Given the description of an element on the screen output the (x, y) to click on. 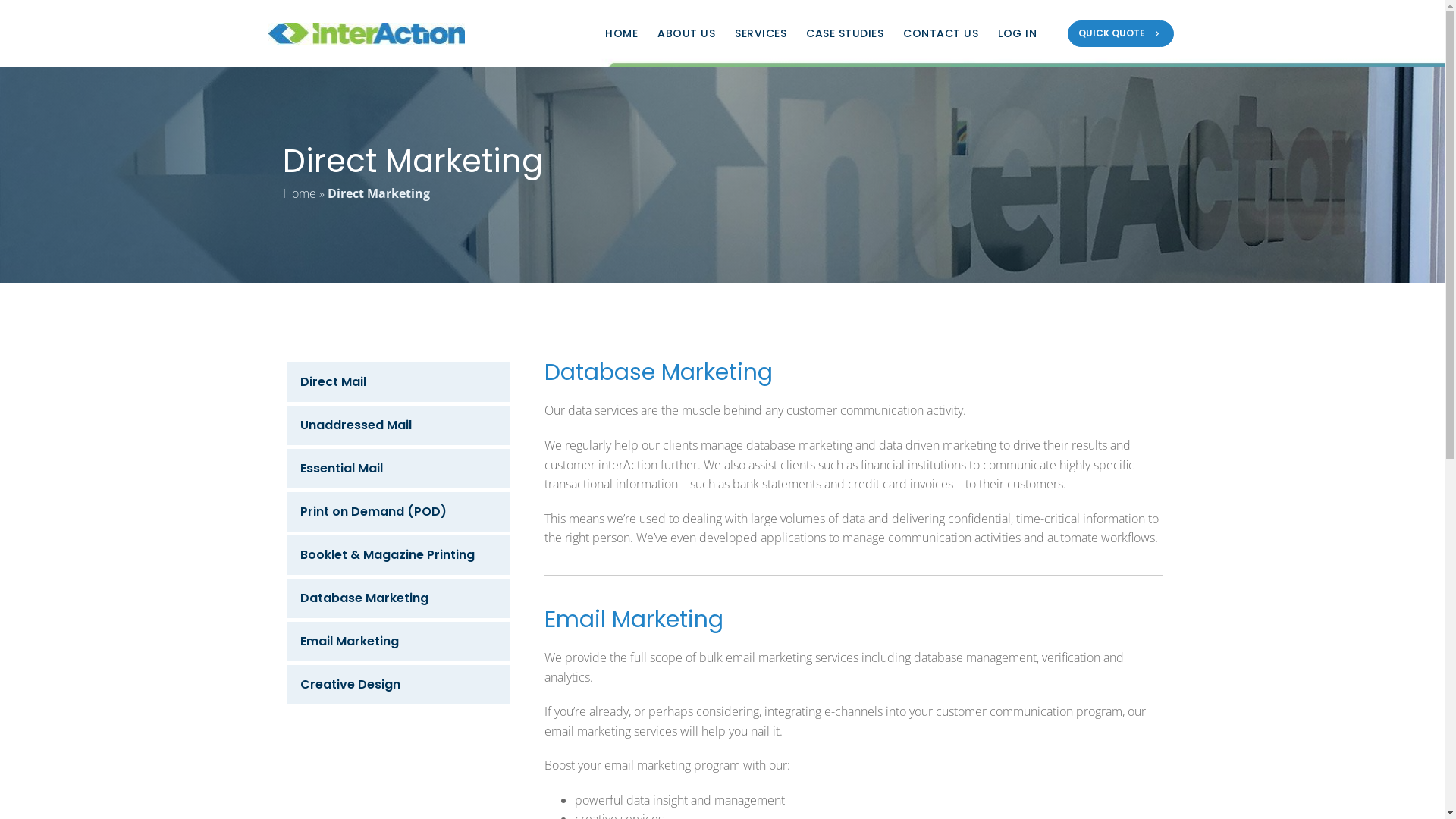
Creative Design Element type: text (398, 684)
Database Marketing Element type: text (398, 598)
Essential Mail Element type: text (398, 468)
LOG IN Element type: text (1007, 33)
Direct Mail Element type: text (398, 381)
CASE STUDIES Element type: text (835, 33)
ABOUT US Element type: text (676, 33)
Booklet & Magazine Printing Element type: text (398, 554)
SERVICES Element type: text (750, 33)
QUICK QUOTE Element type: text (1120, 33)
Unaddressed Mail Element type: text (398, 425)
Email Marketing Element type: text (398, 641)
Print on Demand (POD) Element type: text (398, 511)
CONTACT US Element type: text (931, 33)
Home Element type: text (298, 193)
HOME Element type: text (611, 33)
InterAction Logo Element type: hover (365, 33)
